Given the description of an element on the screen output the (x, y) to click on. 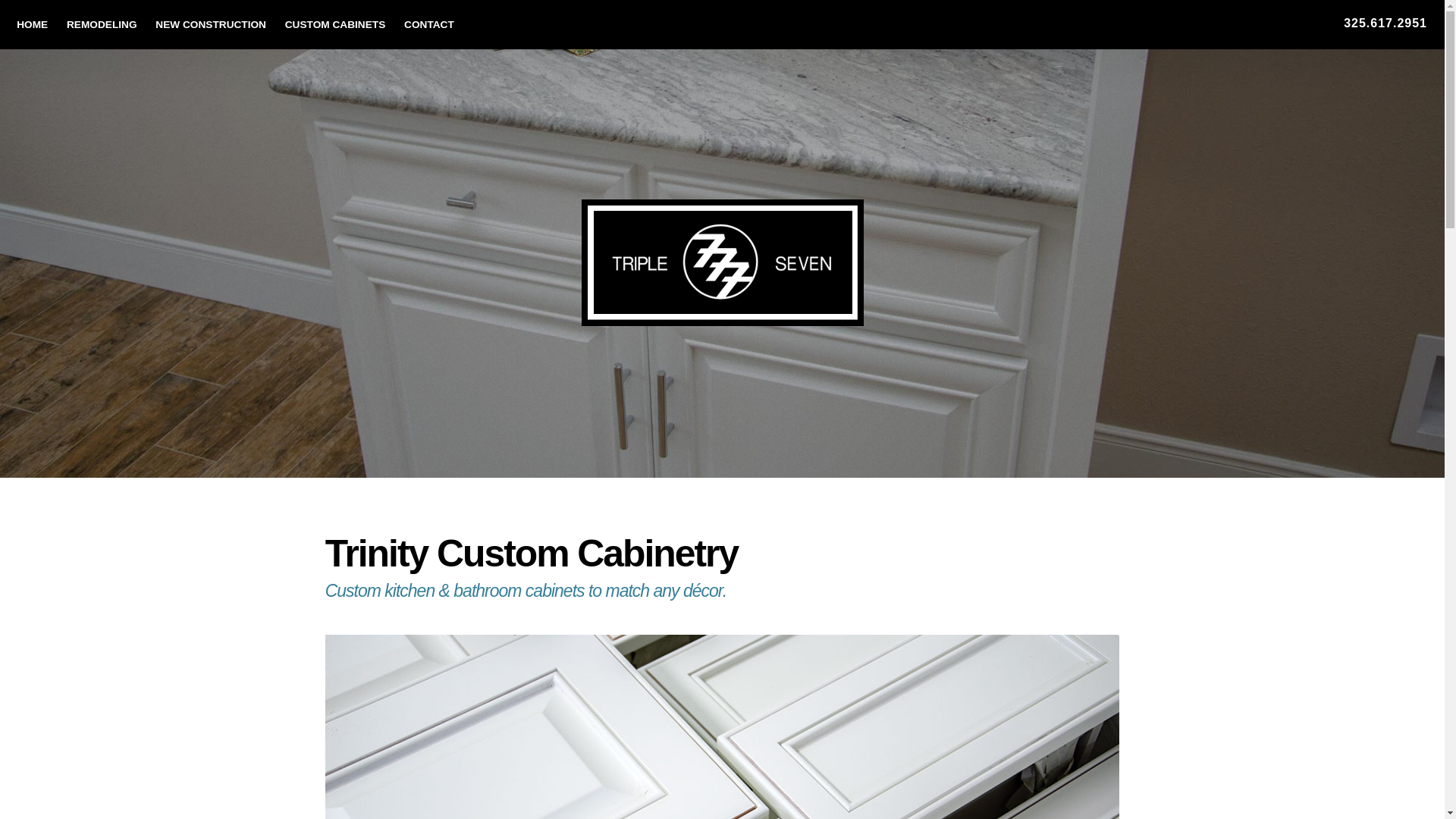
REMODELING (101, 23)
HOME (31, 23)
NEW CONSTRUCTION (210, 23)
CONTACT (428, 23)
CUSTOM CABINETS (335, 23)
